Given the description of an element on the screen output the (x, y) to click on. 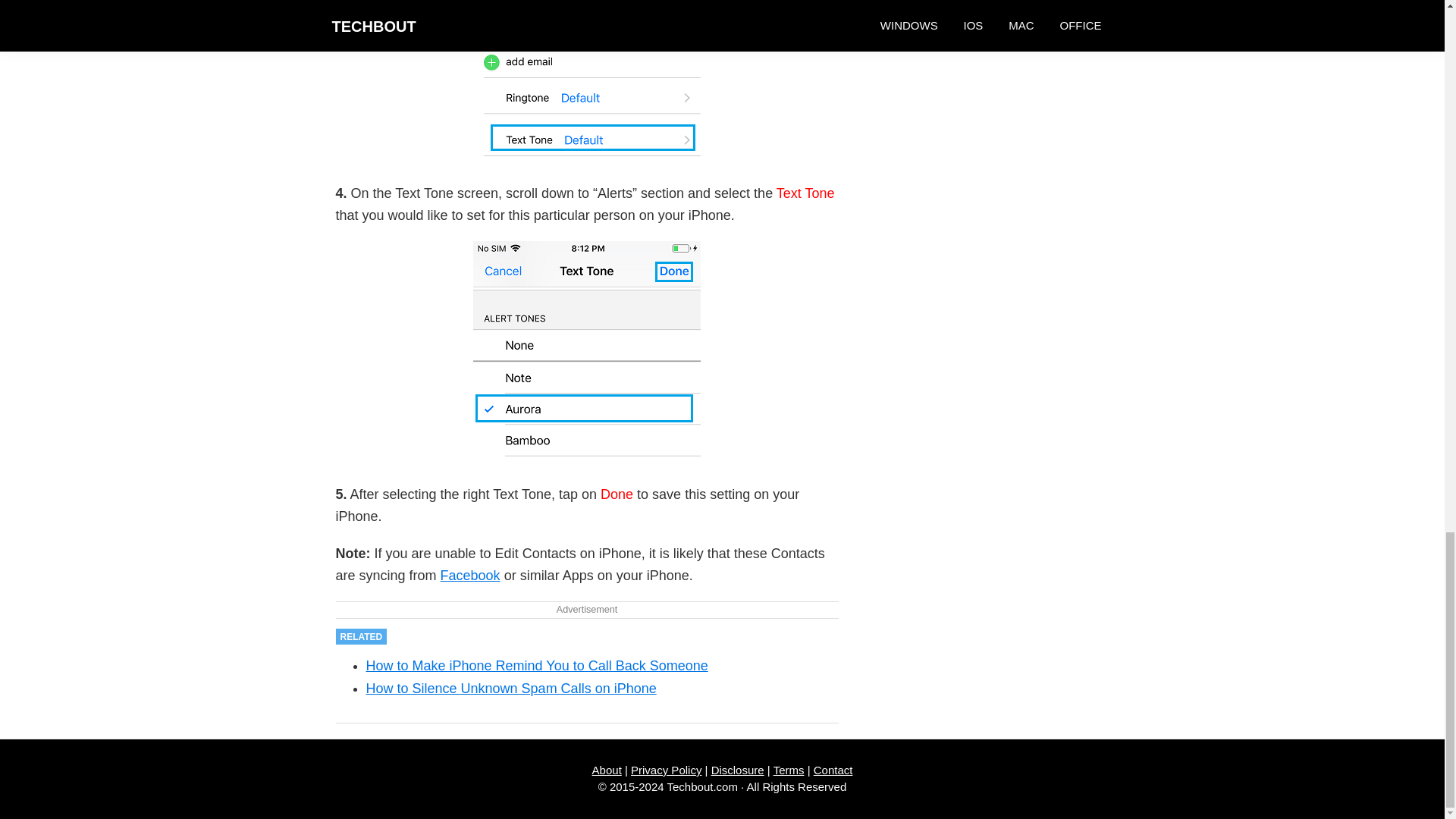
Disclosure (737, 769)
Facebook (470, 575)
How to Make iPhone Remind You to Call Back Someone (536, 665)
Terms (789, 769)
Select Text Alert Tone For Contact On iPhone (586, 350)
How to Silence Unknown Spam Calls on iPhone (510, 688)
About (606, 769)
Contact (833, 769)
Change Text Tone For Contacts on iPhone (586, 79)
Privacy Policy (665, 769)
